Given the description of an element on the screen output the (x, y) to click on. 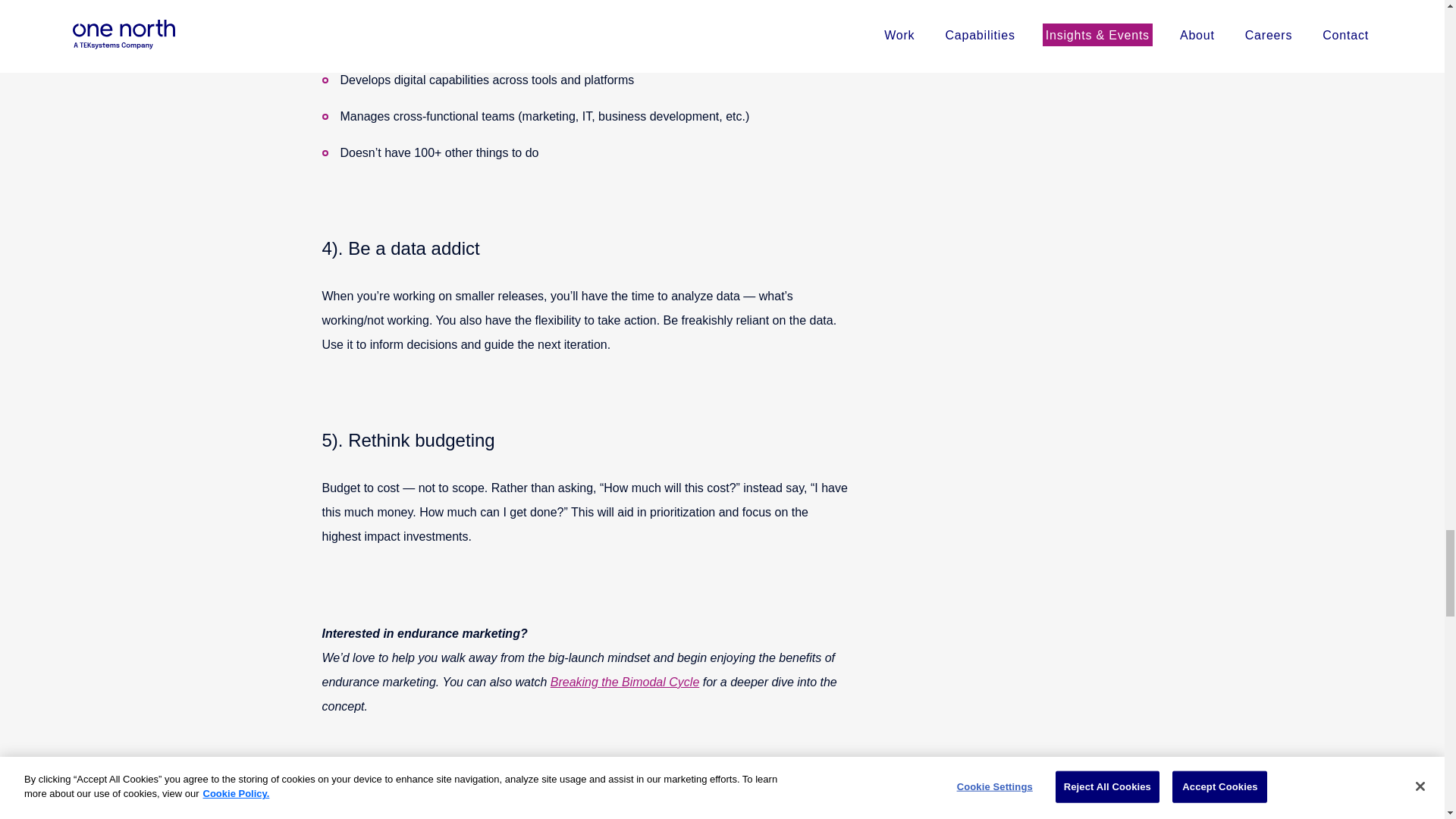
Breaking the Bimodal Cycle (625, 681)
Let's talk endurance marketing (421, 805)
